Given the description of an element on the screen output the (x, y) to click on. 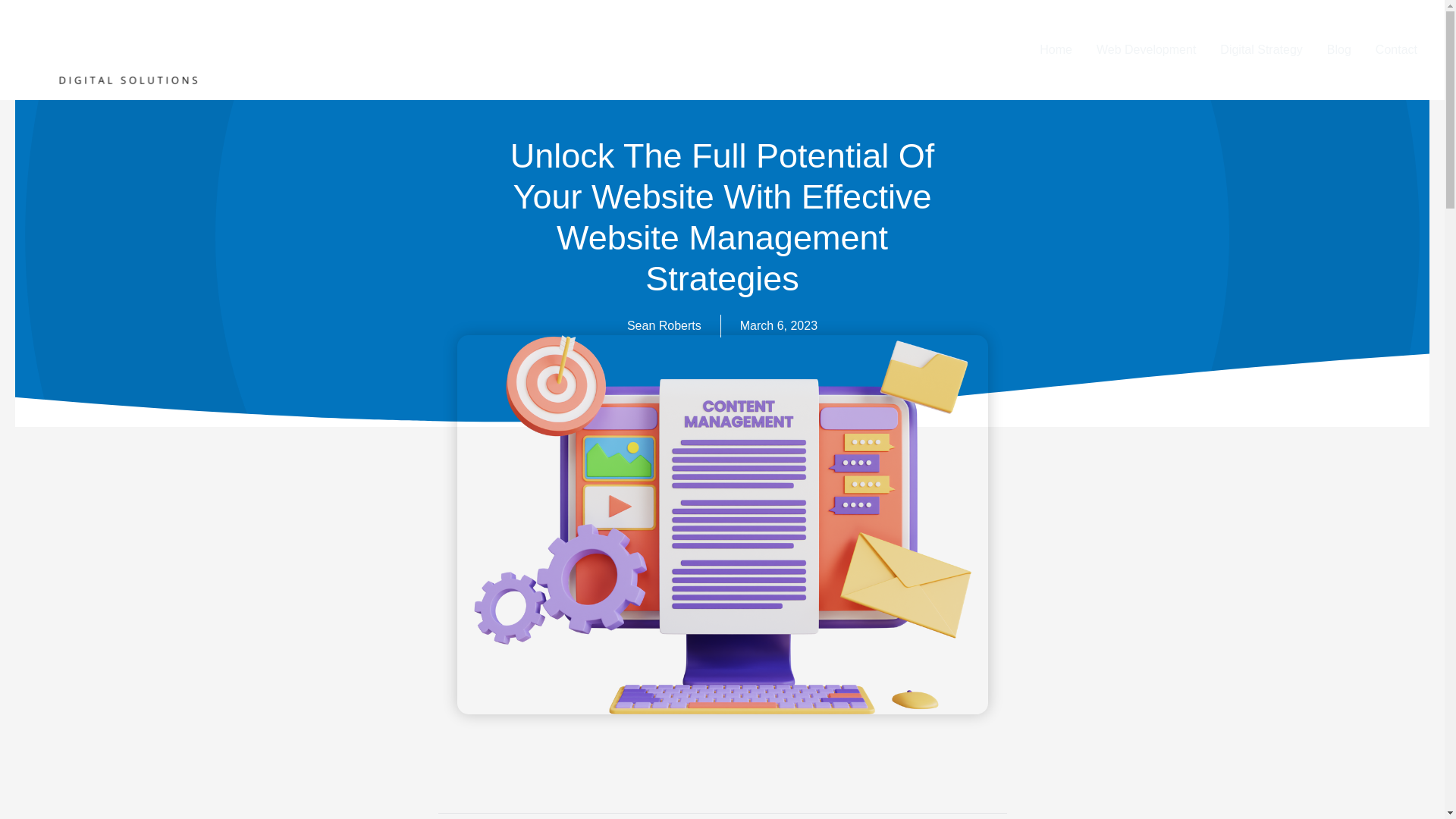
Sean Roberts (664, 325)
March 6, 2023 (777, 325)
Digital Strategy (1261, 49)
Web Development (1146, 49)
